Given the description of an element on the screen output the (x, y) to click on. 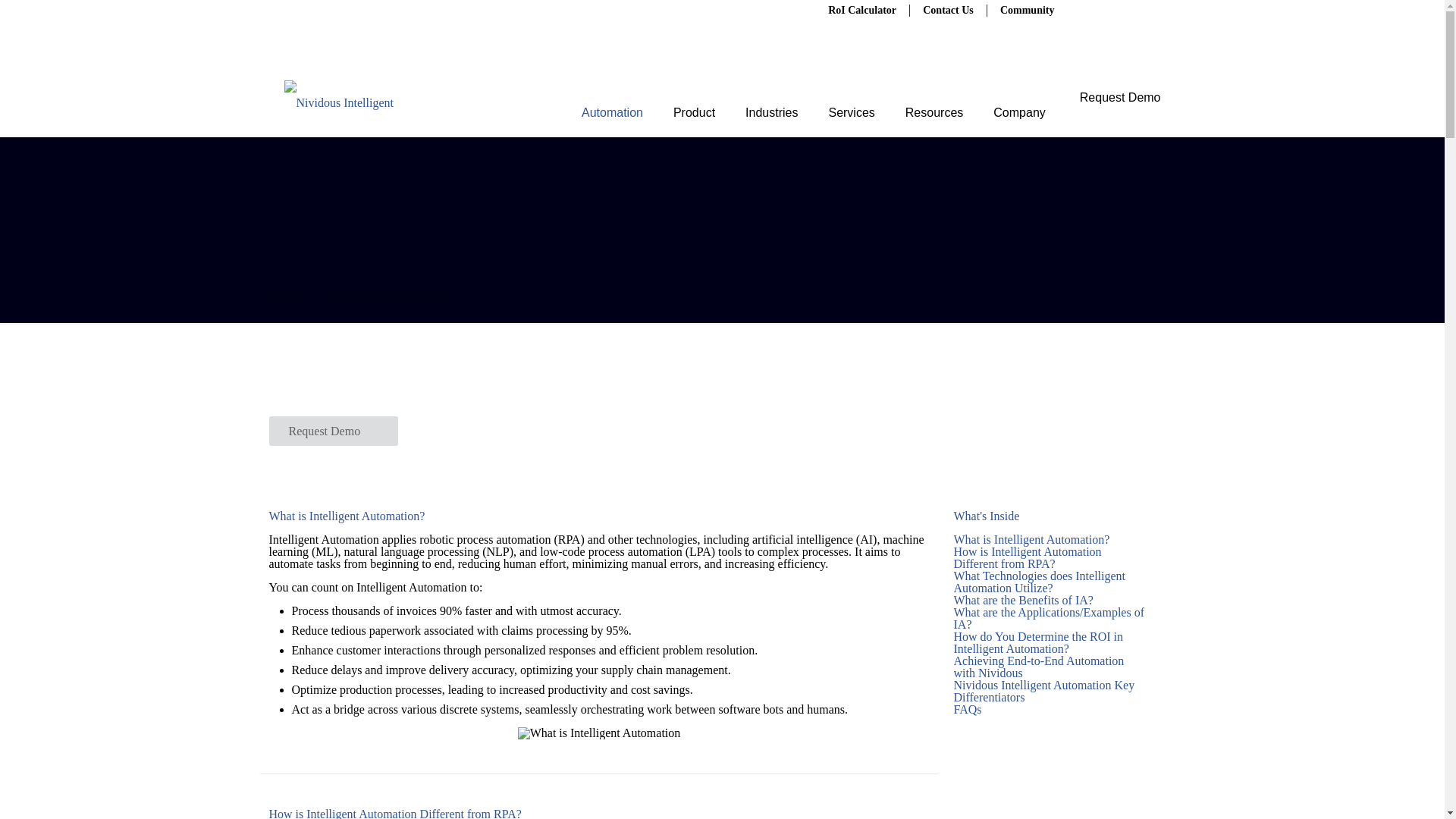
Automation (612, 101)
Product (694, 101)
Community (1027, 9)
Nividous Intelligent Automation Company (351, 101)
Resources (933, 101)
Industries (771, 101)
Services (850, 101)
RoI Calculator (861, 9)
Contact Us (948, 9)
Company (1017, 101)
